Given the description of an element on the screen output the (x, y) to click on. 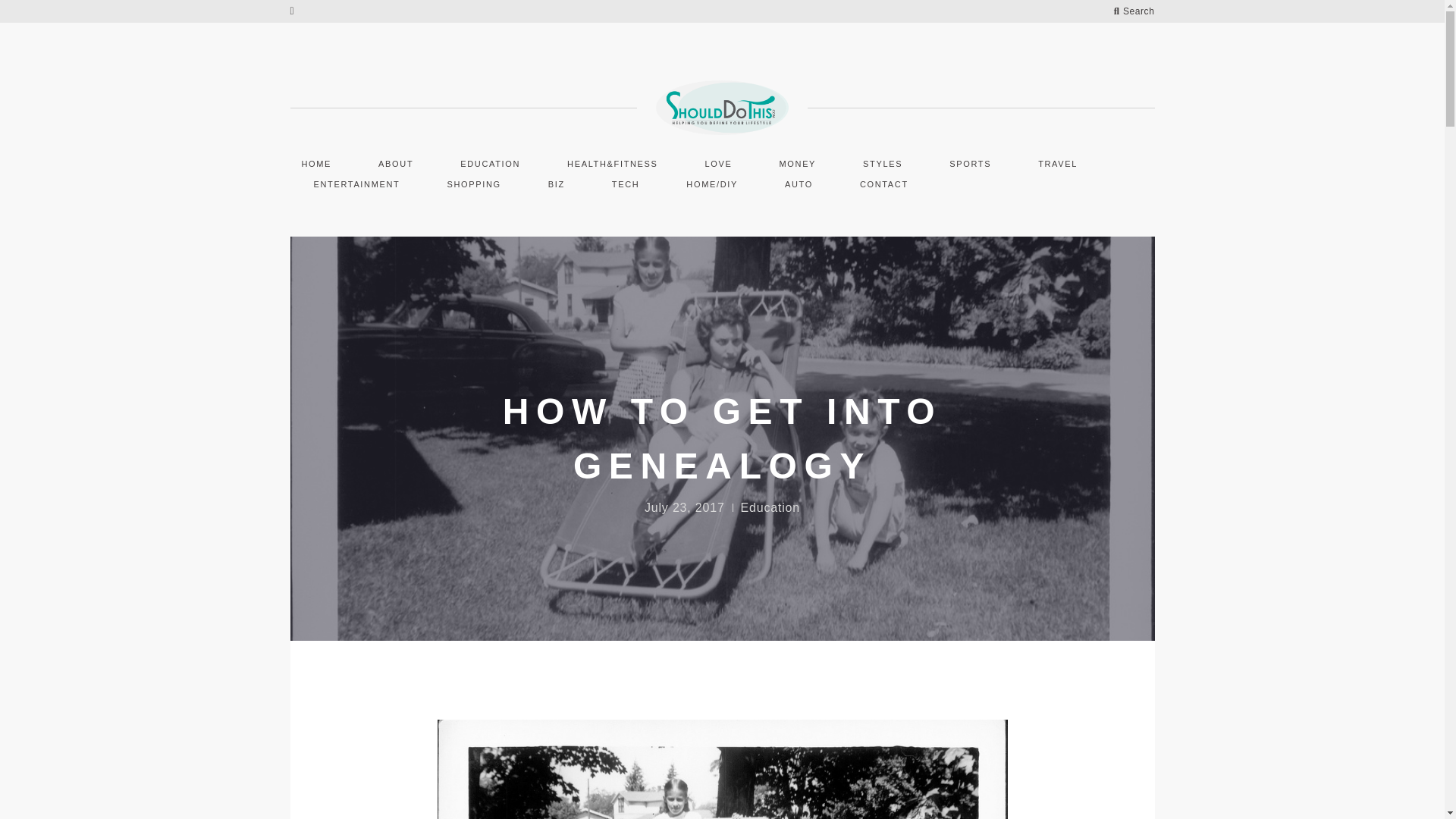
Search (46, 16)
AUTO (798, 182)
LOVE (719, 162)
HOME (315, 162)
ENTERTAINMENT (355, 182)
Search (1133, 11)
CONTACT (884, 182)
Home (315, 162)
MONEY (798, 162)
SHOPPING (473, 182)
